Given the description of an element on the screen output the (x, y) to click on. 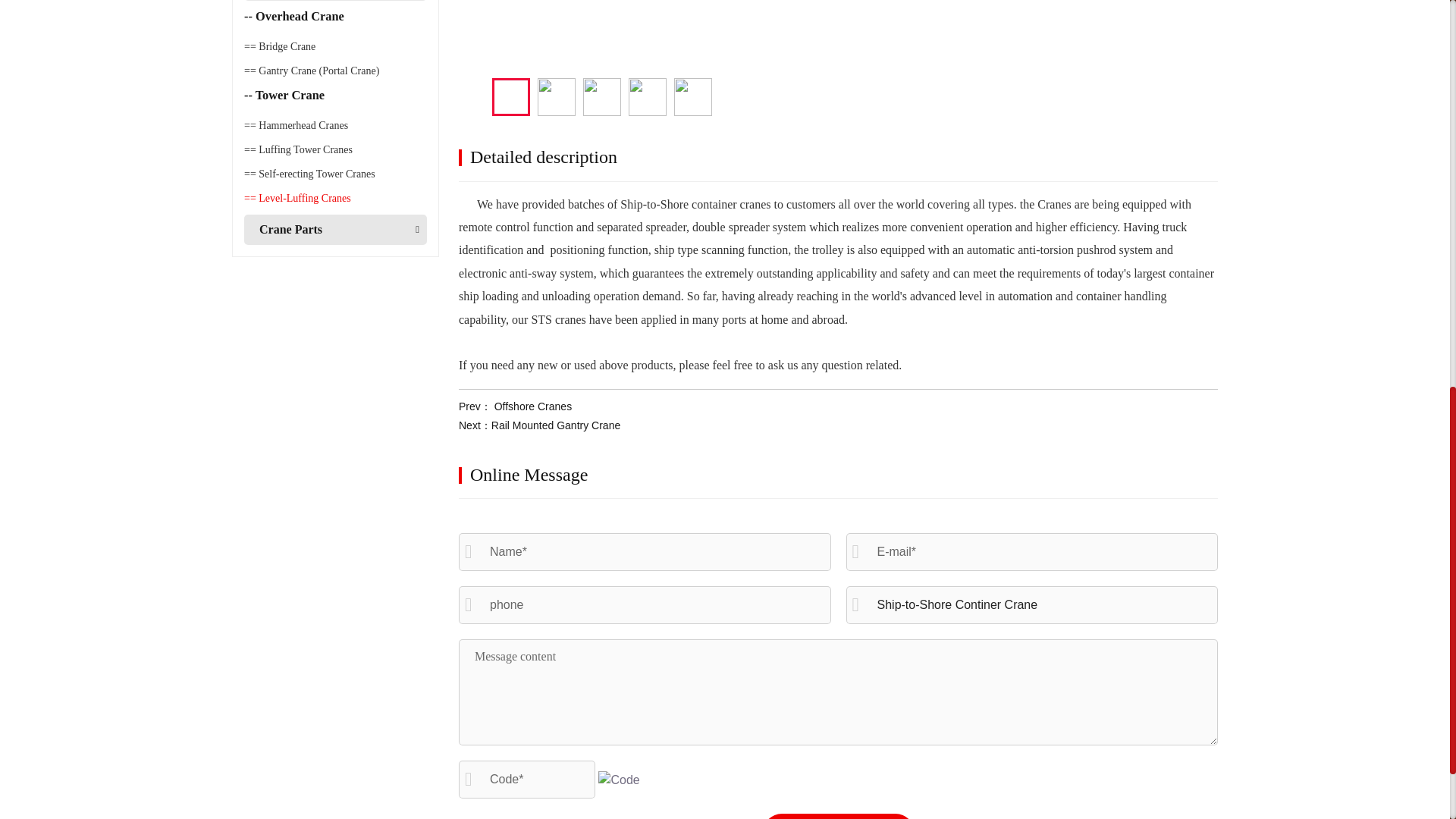
Ship-to-Shore Continer Crane  (1031, 605)
- Overhead Crane (268, 80)
Click to refresh (618, 780)
Static Cranes (413, 86)
